Given the description of an element on the screen output the (x, y) to click on. 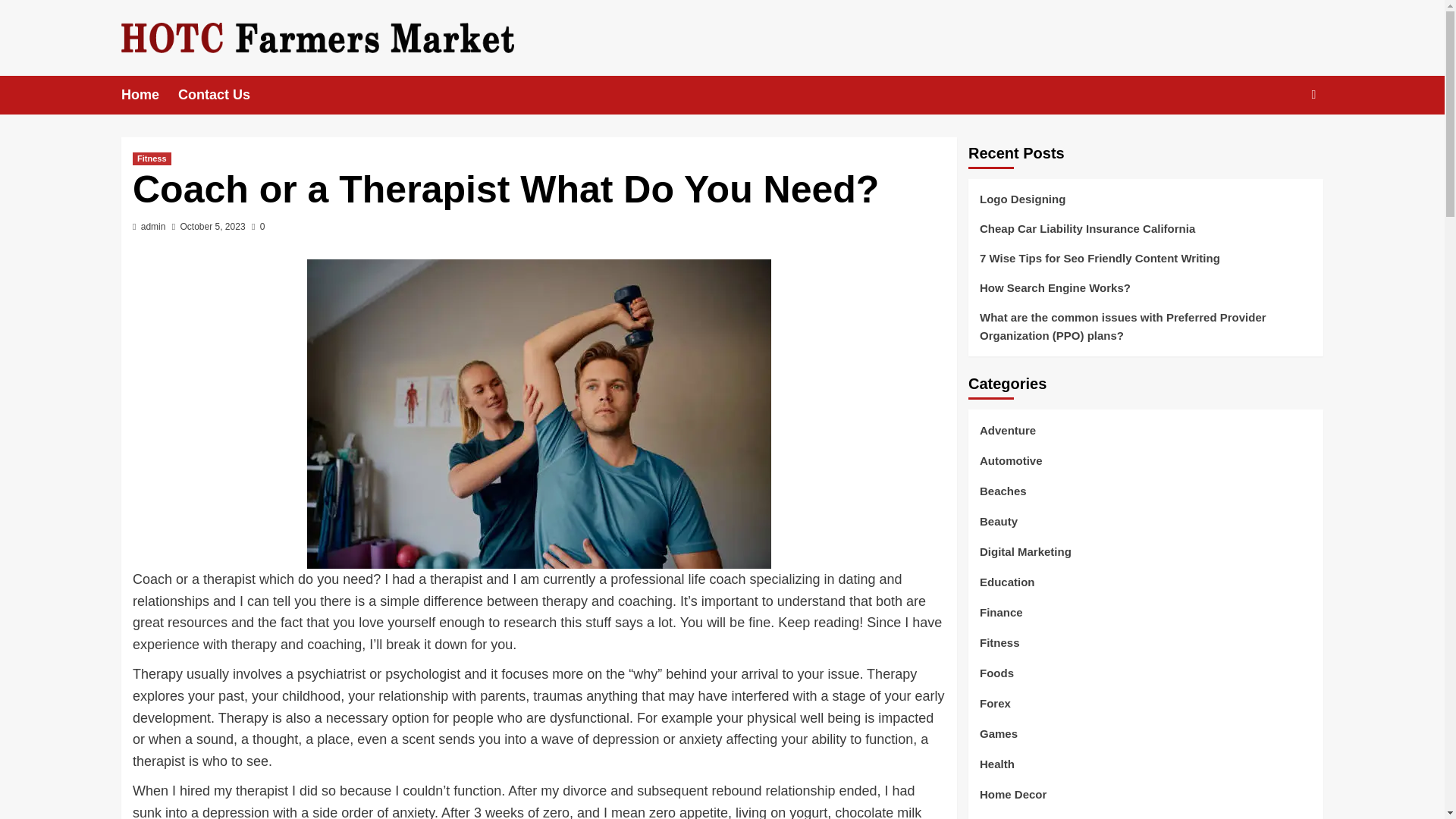
Home (148, 95)
How Search Engine Works? (1145, 293)
Automotive (1010, 466)
Fitness (151, 158)
October 5, 2023 (213, 226)
Contact Us (223, 95)
admin (153, 226)
Search (1278, 141)
7 Wise Tips for Seo Friendly Content Writing (1145, 264)
Adventure (1007, 436)
